Given the description of an element on the screen output the (x, y) to click on. 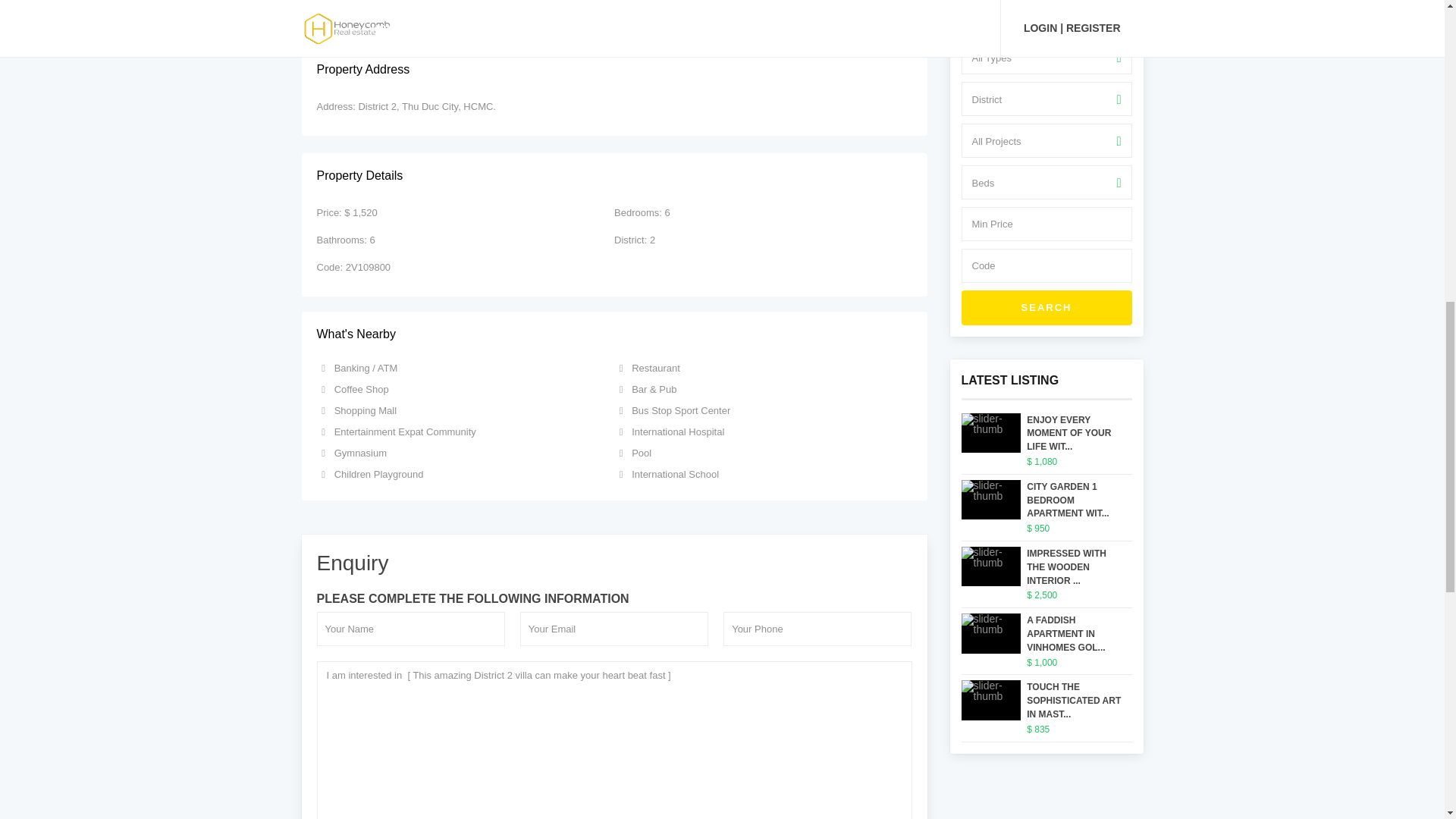
Property Address (614, 69)
Property Details (614, 176)
What'S Nearby (614, 334)
SEARCH (1046, 307)
